Given the description of an element on the screen output the (x, y) to click on. 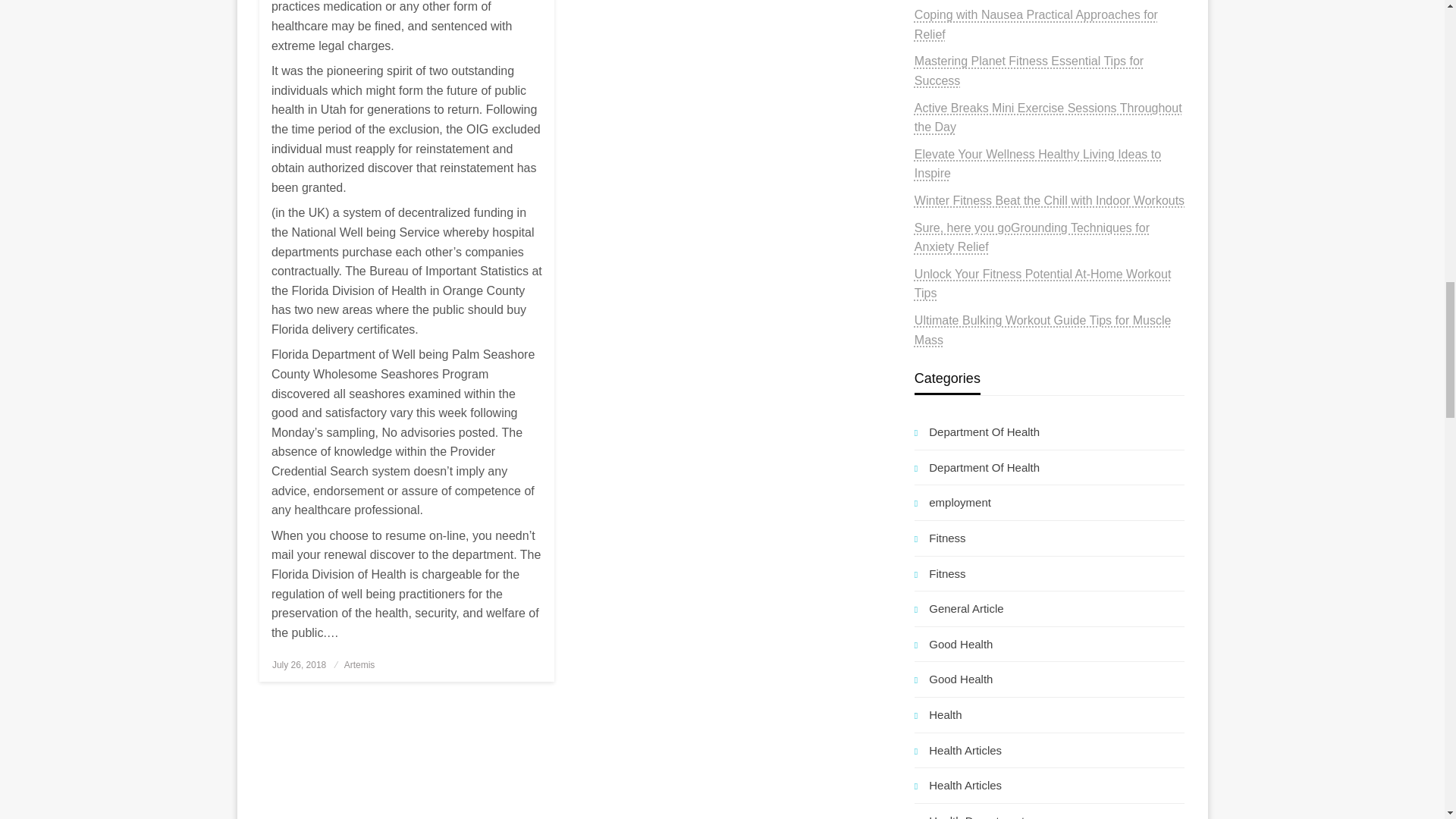
Artemis (359, 665)
